Given the description of an element on the screen output the (x, y) to click on. 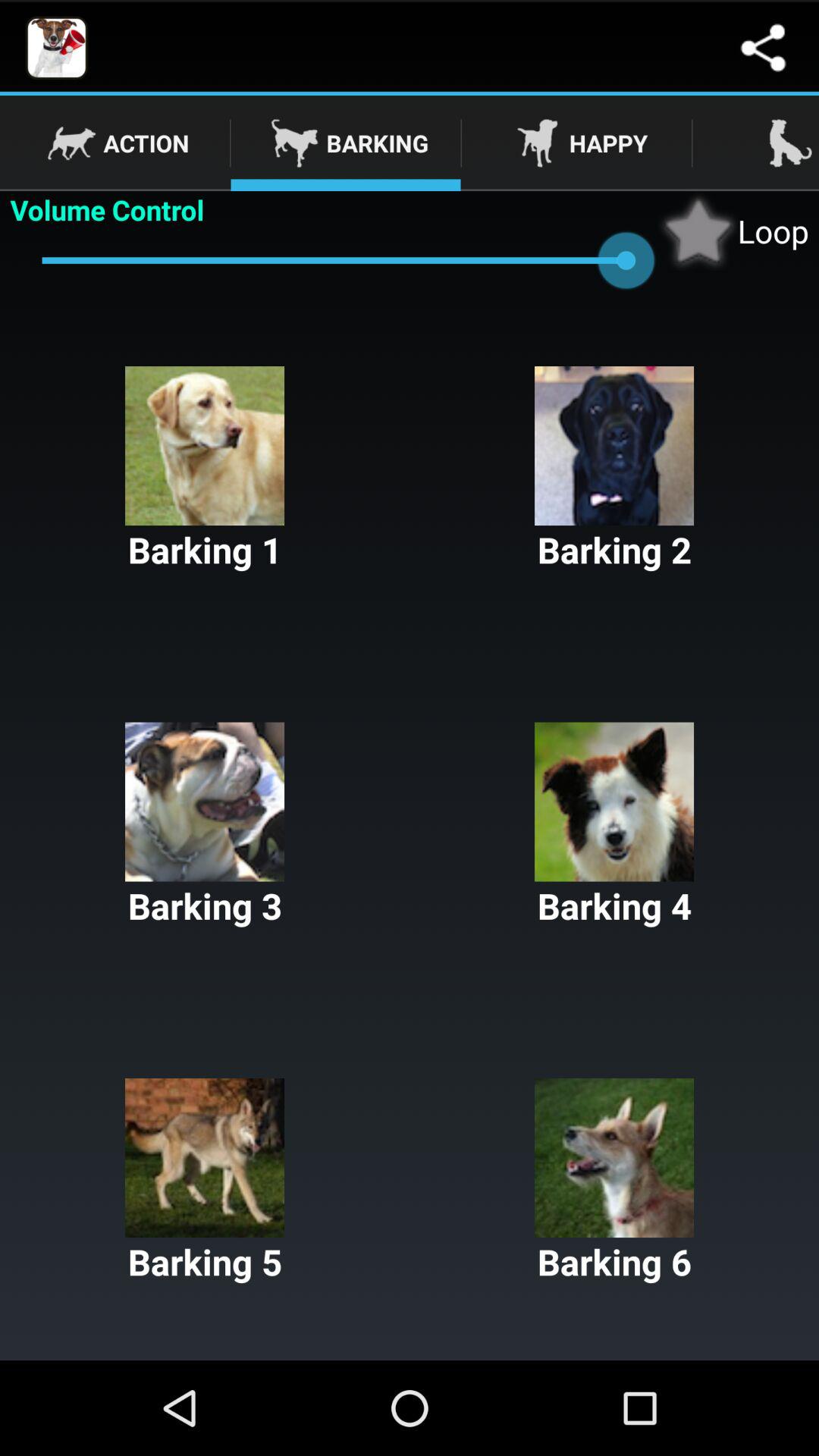
tap item above barking 2 icon (733, 230)
